Given the description of an element on the screen output the (x, y) to click on. 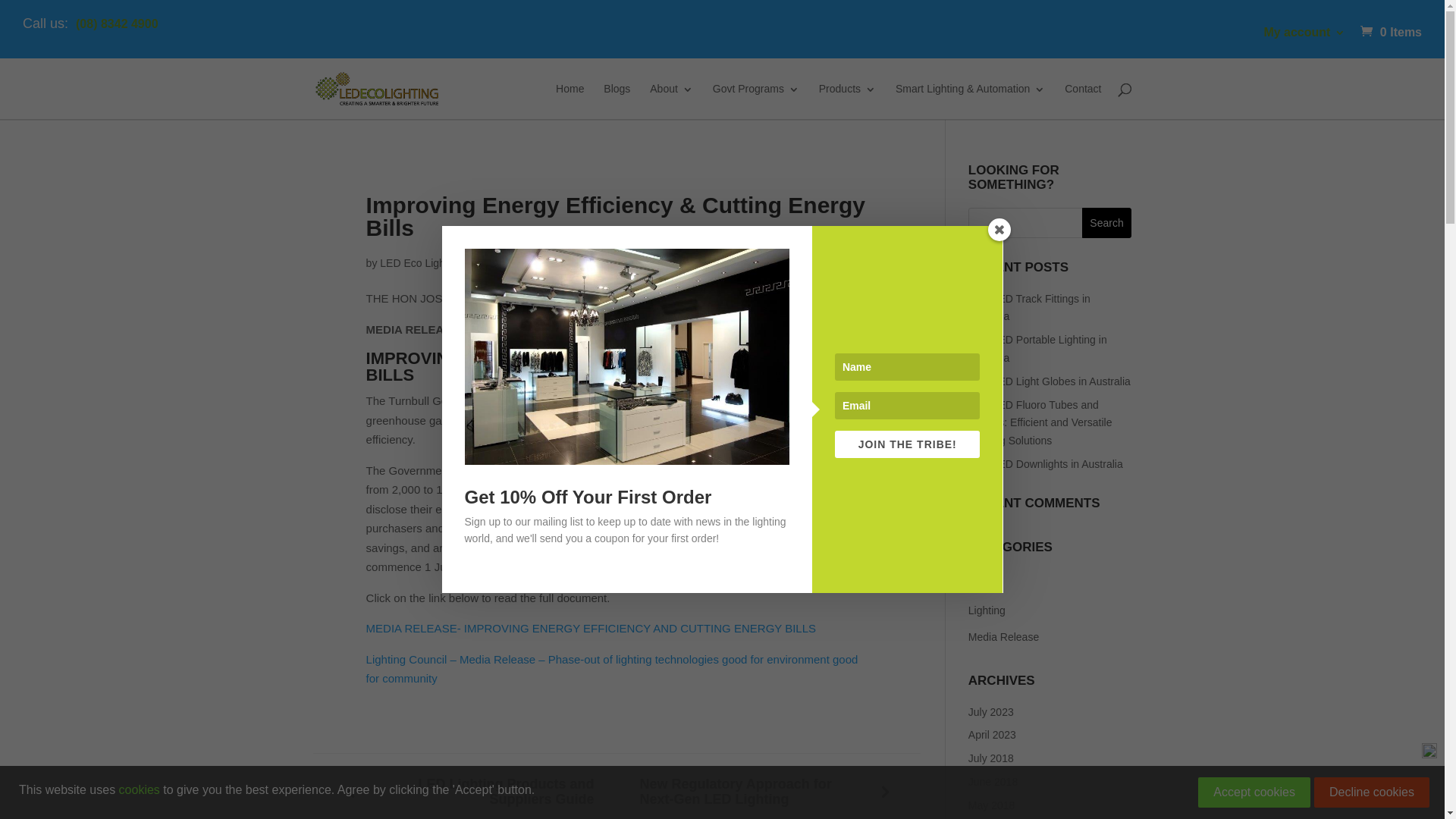
JOIN THE TRIBE! Element type: text (907, 444)
Products Element type: text (847, 101)
Accept cookies Element type: text (1254, 792)
Best LED Portable Lighting in Australia Element type: text (1037, 348)
Media Release Element type: text (575, 263)
May 2018 Element type: text (991, 805)
Best LED Light Globes in Australia Element type: text (1049, 381)
July 2018 Element type: text (990, 758)
LED Lighting Products and Suppliers Guide Element type: text (464, 791)
Contact Element type: text (1082, 101)
Blogs Element type: text (1050, 583)
Lighting Element type: text (1050, 610)
LED Eco Lighting Element type: text (420, 263)
June 2018 Element type: text (992, 781)
(08) 8342 4900 Element type: text (116, 23)
Smart Lighting & Automation Element type: text (969, 101)
Home Element type: text (569, 101)
New Regulatory Approach for Next-Gen LED Lighting Element type: text (768, 791)
cookies Element type: text (139, 789)
April 2023 Element type: text (992, 734)
Decline cookies Element type: text (1371, 792)
Best LED Track Fittings in Australia Element type: text (1029, 307)
Govt Programs Element type: text (755, 101)
Best LED Downlights in Australia Element type: text (1045, 464)
July 2023 Element type: text (990, 712)
Media Release Element type: text (1050, 637)
Blogs Element type: text (616, 101)
Search Element type: text (1107, 222)
My account Element type: text (1304, 32)
0 Items Element type: text (1388, 31)
About Element type: text (671, 101)
